Given the description of an element on the screen output the (x, y) to click on. 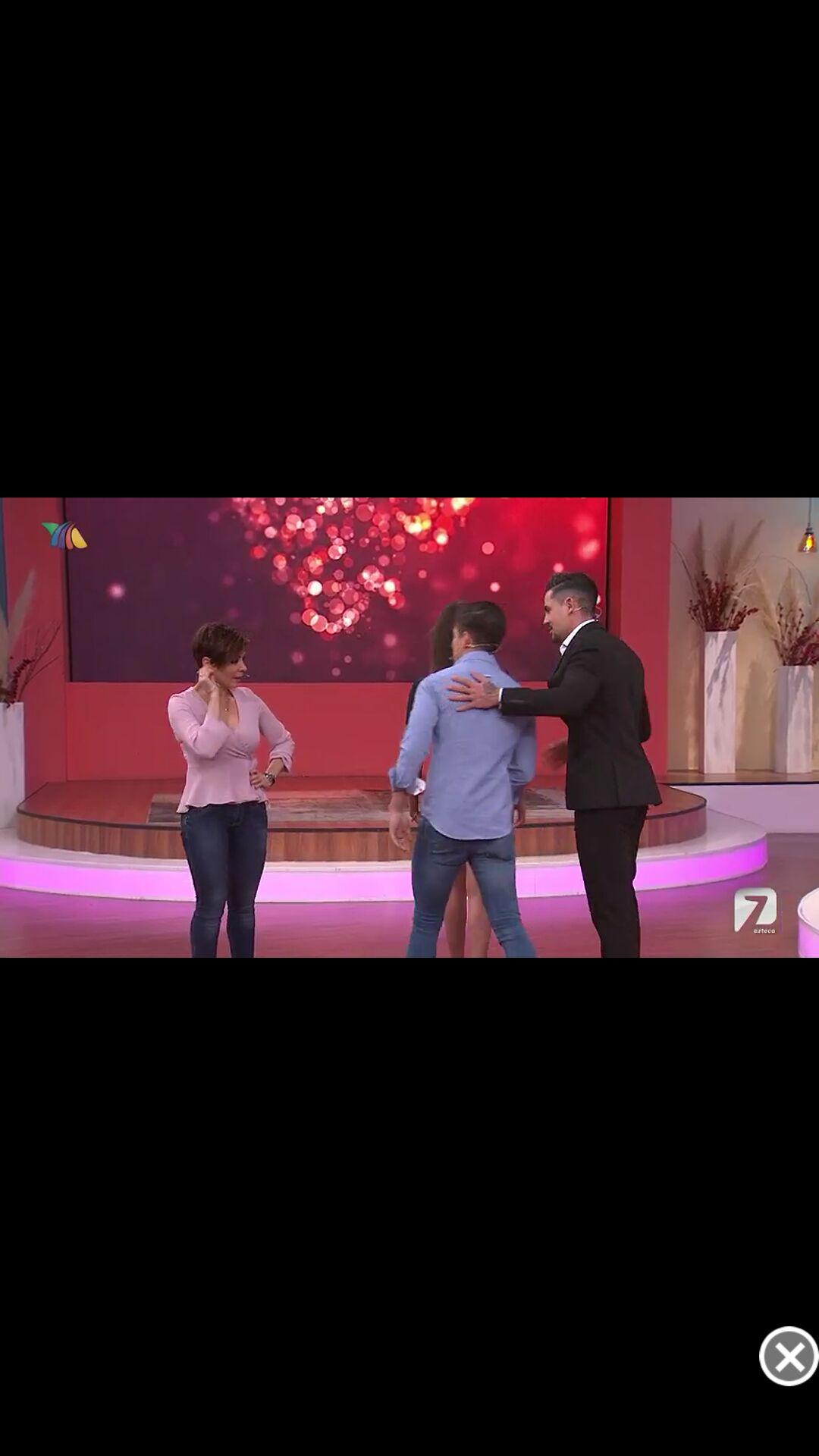
closes the video (789, 1356)
